Given the description of an element on the screen output the (x, y) to click on. 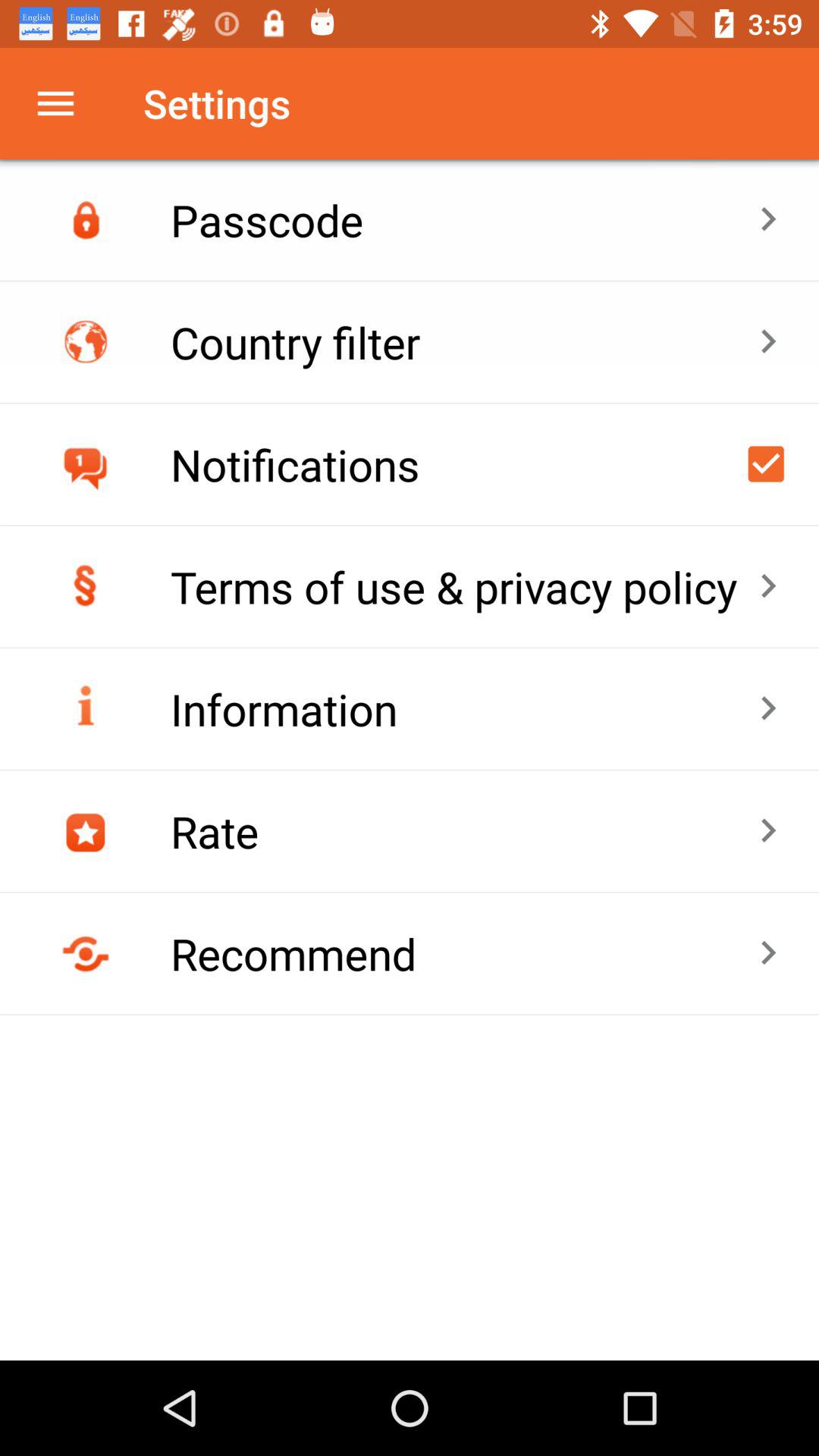
turn off icon below country filter icon (464, 464)
